Given the description of an element on the screen output the (x, y) to click on. 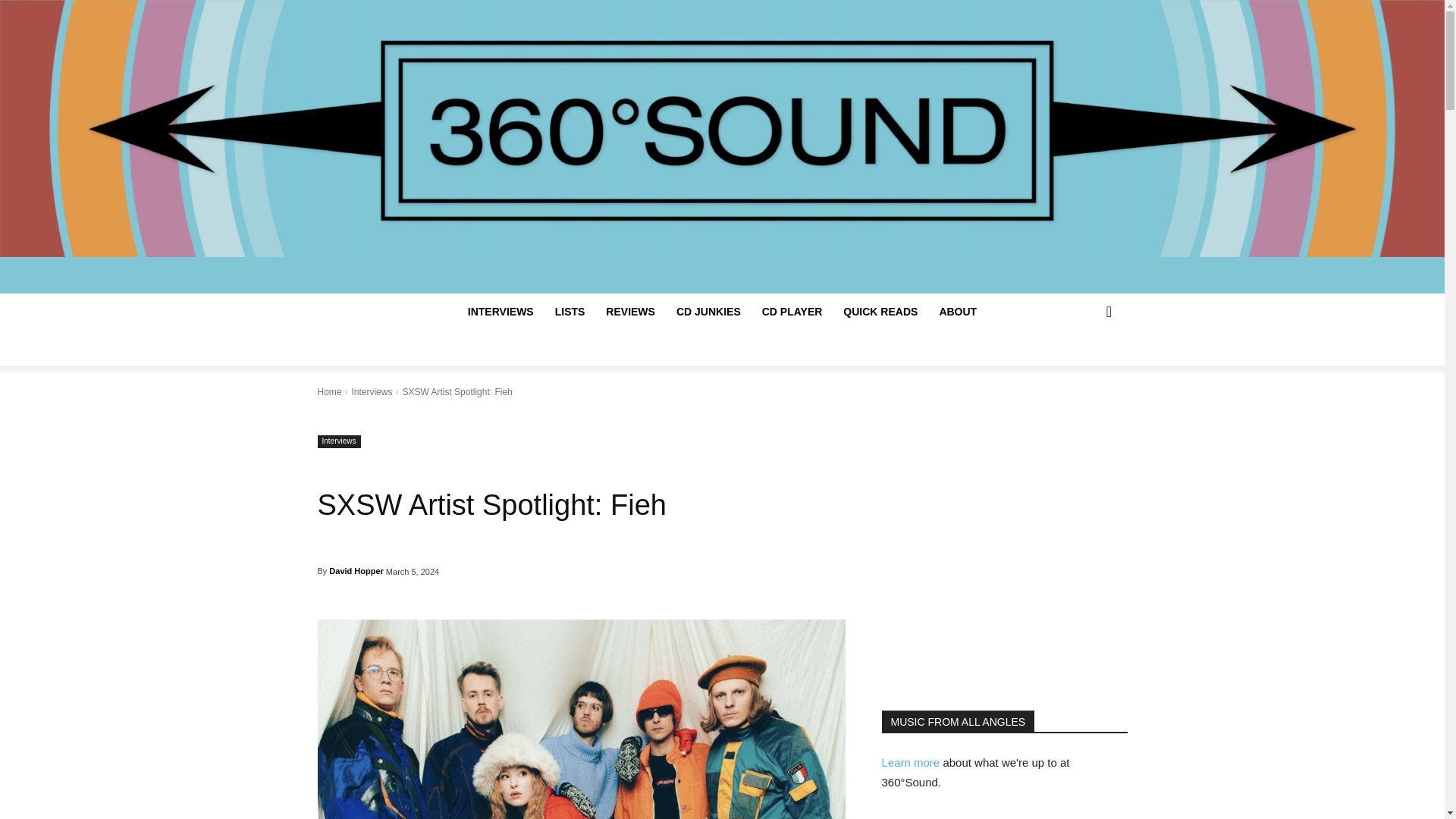
Interviews (338, 440)
David Hopper (356, 570)
ABOUT (957, 311)
CD PLAYER (791, 311)
REVIEWS (630, 311)
View all posts in Interviews (370, 391)
CD JUNKIES (708, 311)
QUICK READS (880, 311)
Fieh (580, 719)
Interviews (370, 391)
INTERVIEWS (500, 311)
LISTS (569, 311)
Home (328, 391)
